Given the description of an element on the screen output the (x, y) to click on. 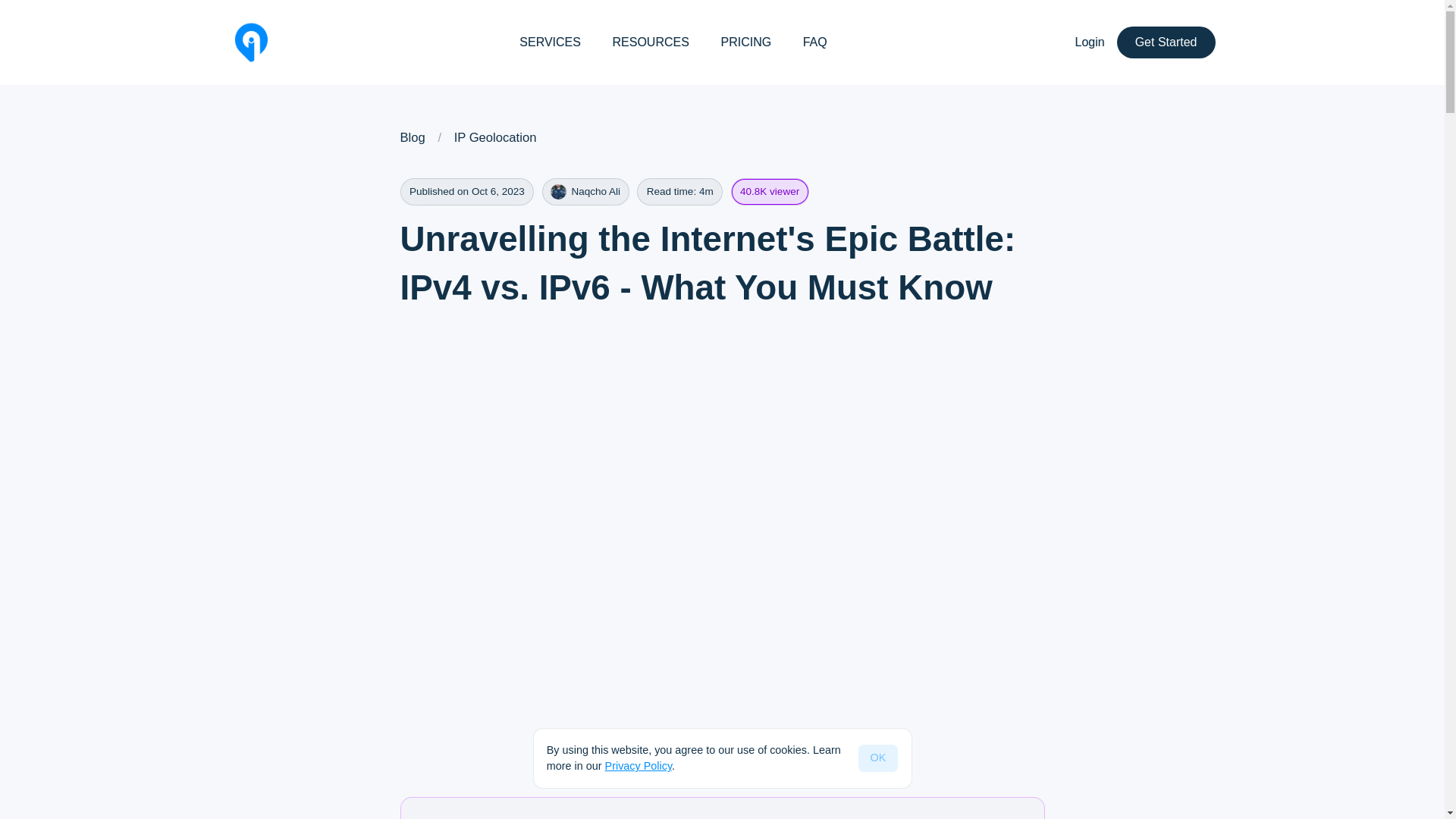
IP Geolocation (495, 137)
PRICING (745, 42)
Pricing (745, 42)
Get Started (1165, 42)
Login (1090, 42)
Get Started (1165, 42)
Naqcho Ali (584, 191)
Login (1090, 42)
FAQ (815, 42)
FAQ (815, 42)
